Given the description of an element on the screen output the (x, y) to click on. 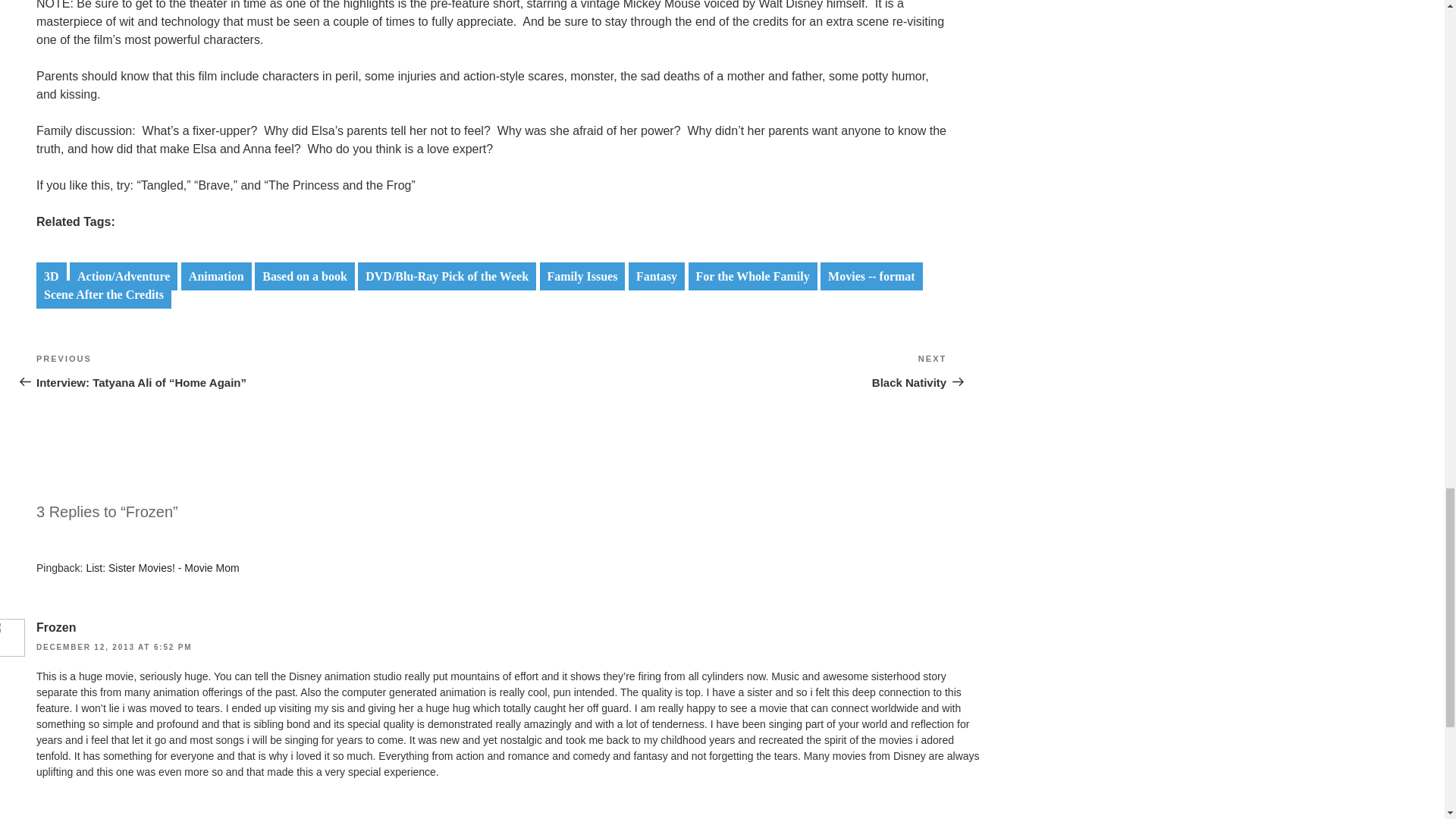
3D (51, 276)
Family Issues (583, 276)
Fantasy (656, 276)
Animation (215, 276)
List: Sister Movies! - Movie Mom (161, 567)
Movies -- format (872, 276)
Based on a book (304, 276)
For the Whole Family (719, 370)
DECEMBER 12, 2013 AT 6:52 PM (752, 276)
Scene After the Credits (114, 646)
